Given the description of an element on the screen output the (x, y) to click on. 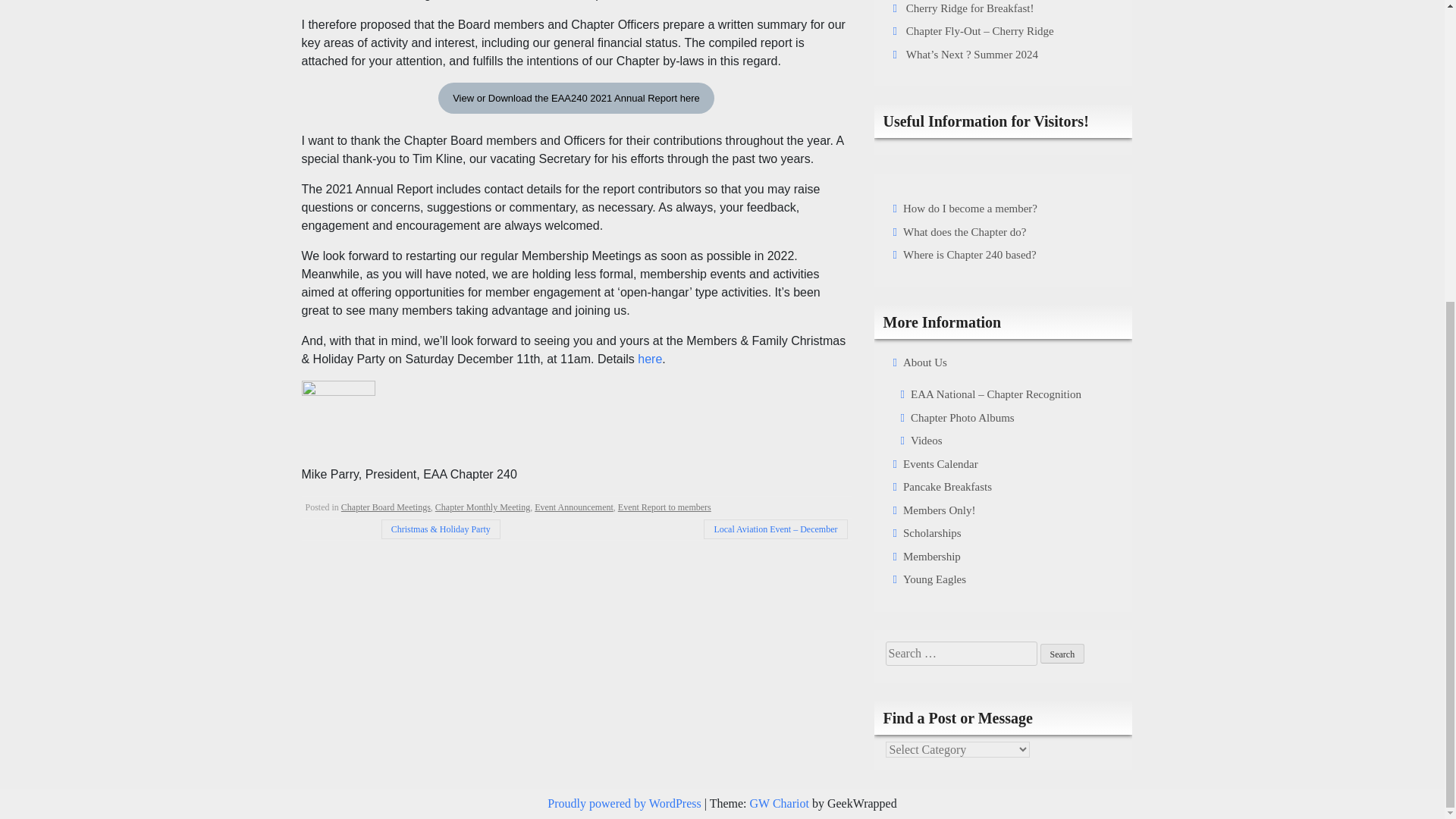
Chapter Monthly Meeting (482, 507)
Search (1062, 653)
here (649, 358)
View or Download the EAA240 2021 Annual Report here (576, 97)
Search (1062, 653)
Event Announcement (573, 507)
Chapter Board Meetings (385, 507)
Event Report to members (664, 507)
